Given the description of an element on the screen output the (x, y) to click on. 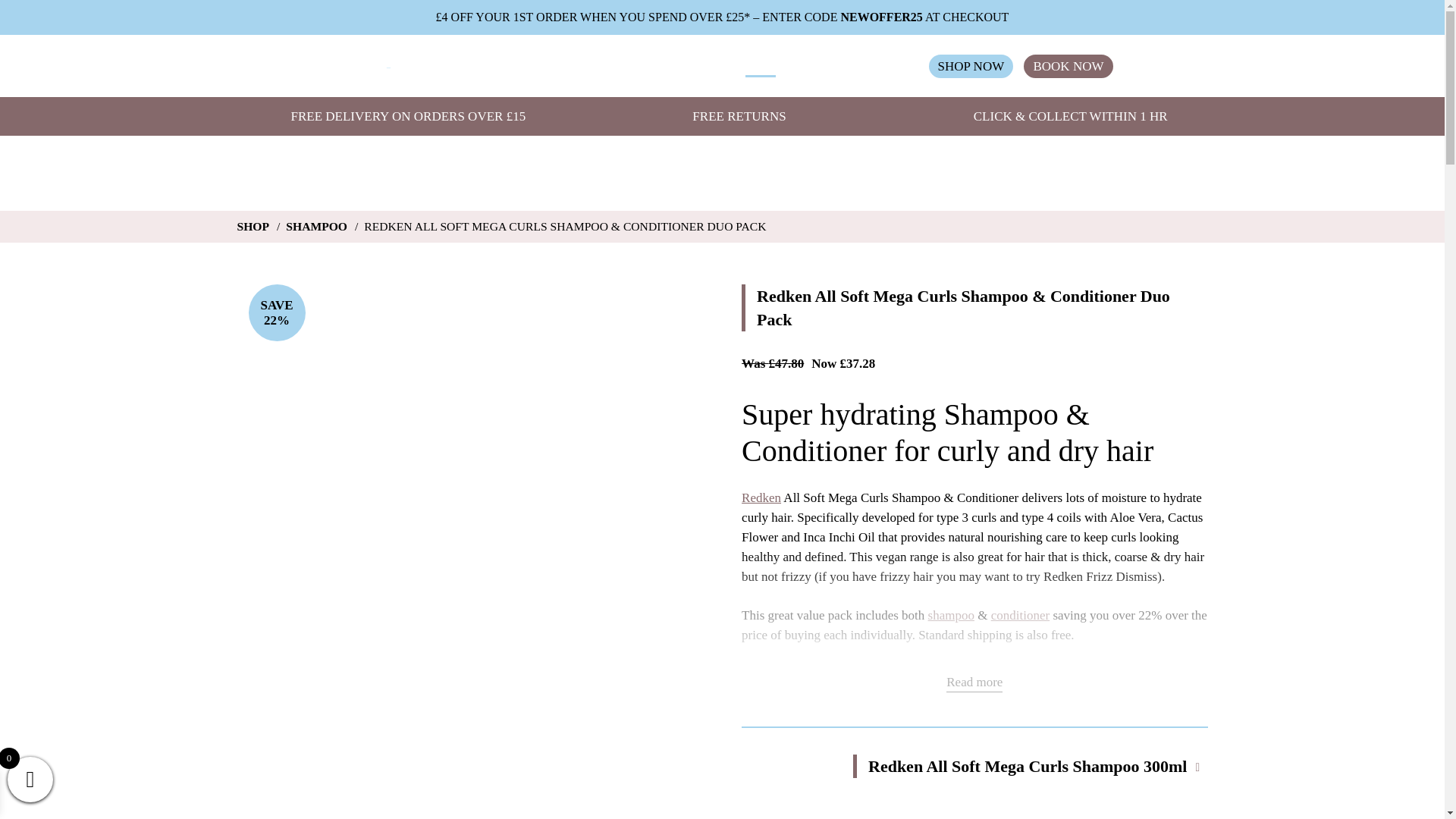
redken-all-soft-mega-curls-shampoo-300ml (787, 786)
SHOP (760, 65)
ADVICE (649, 66)
ACCOUNT (879, 66)
OFFERS (812, 66)
TEAM (595, 66)
PRICES (708, 66)
OUR WORK (529, 66)
